Given the description of an element on the screen output the (x, y) to click on. 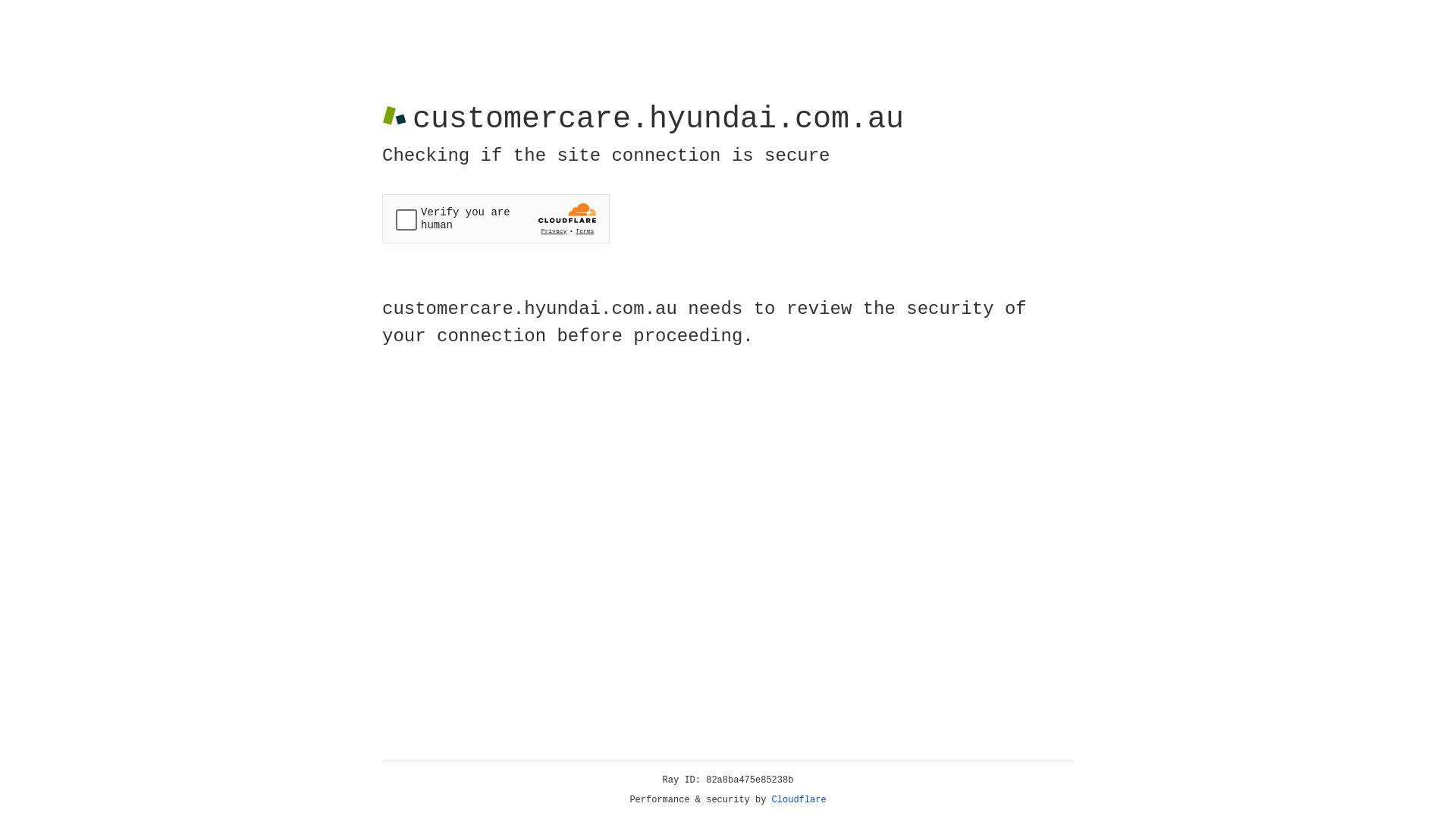
Cloudflare Element type: text (798, 799)
Widget containing a Cloudflare security challenge Element type: hover (495, 218)
